Given the description of an element on the screen output the (x, y) to click on. 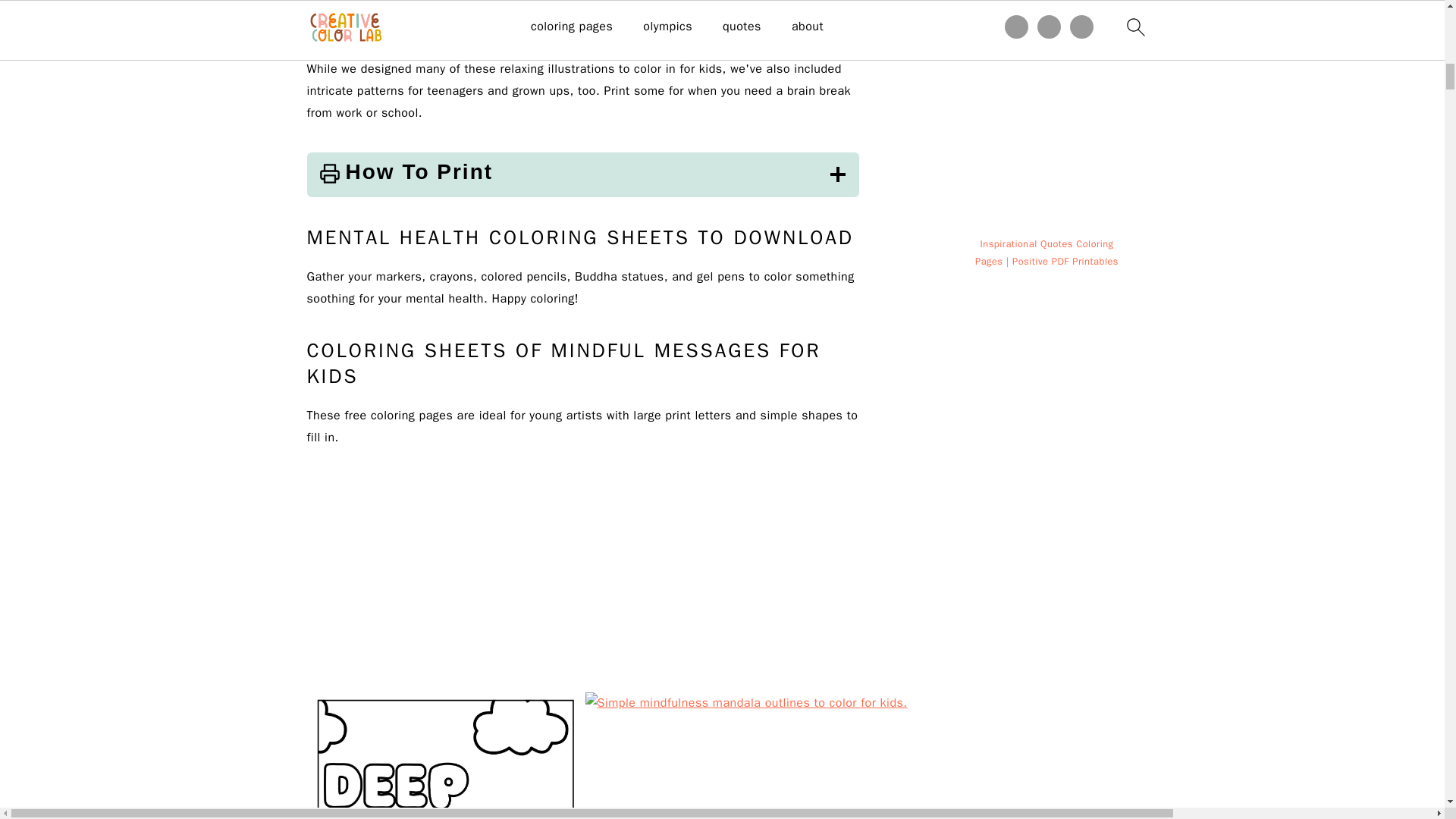
How To Print (582, 173)
